Given the description of an element on the screen output the (x, y) to click on. 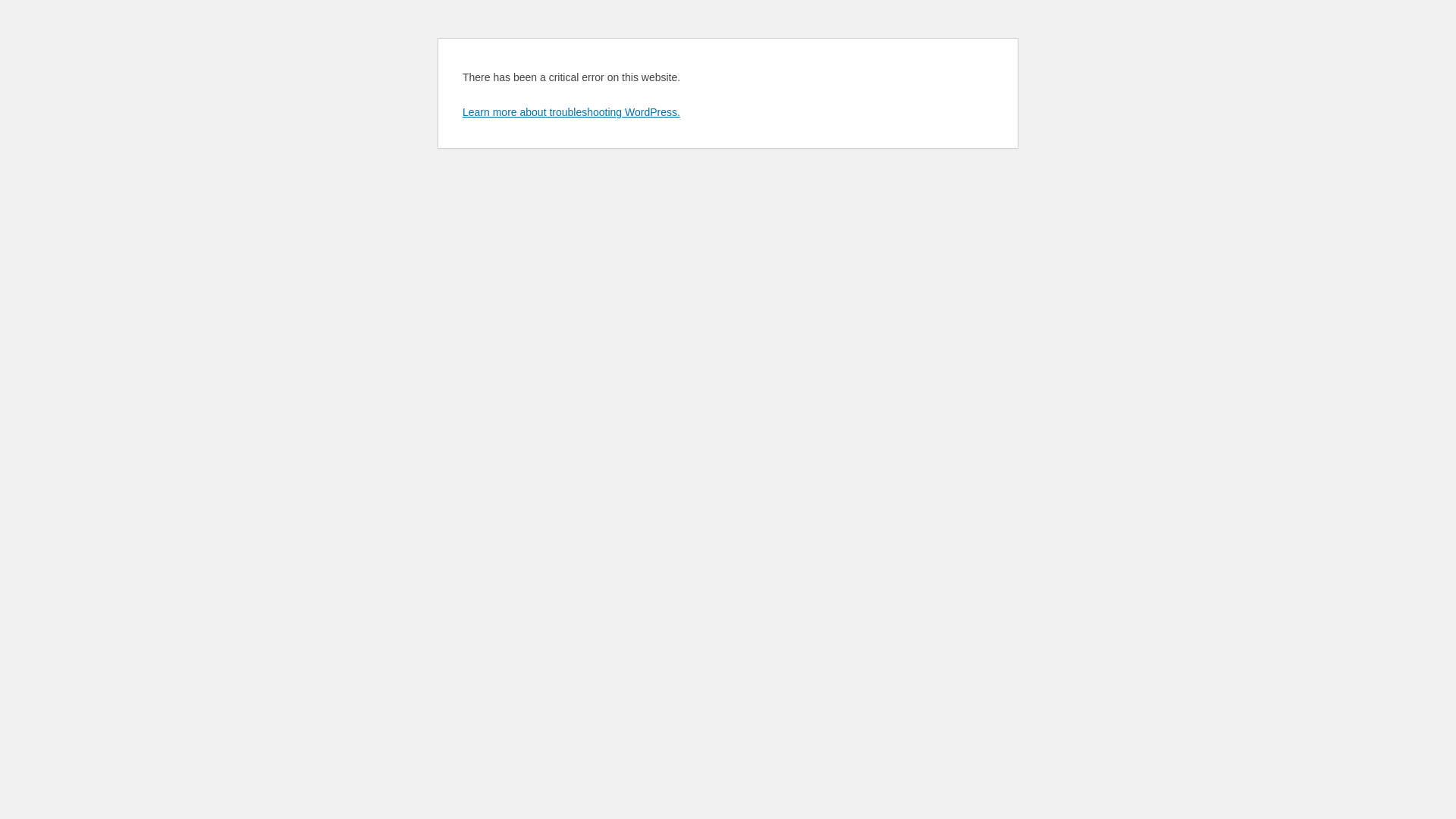
Learn more about troubleshooting WordPress. Element type: text (571, 112)
